Given the description of an element on the screen output the (x, y) to click on. 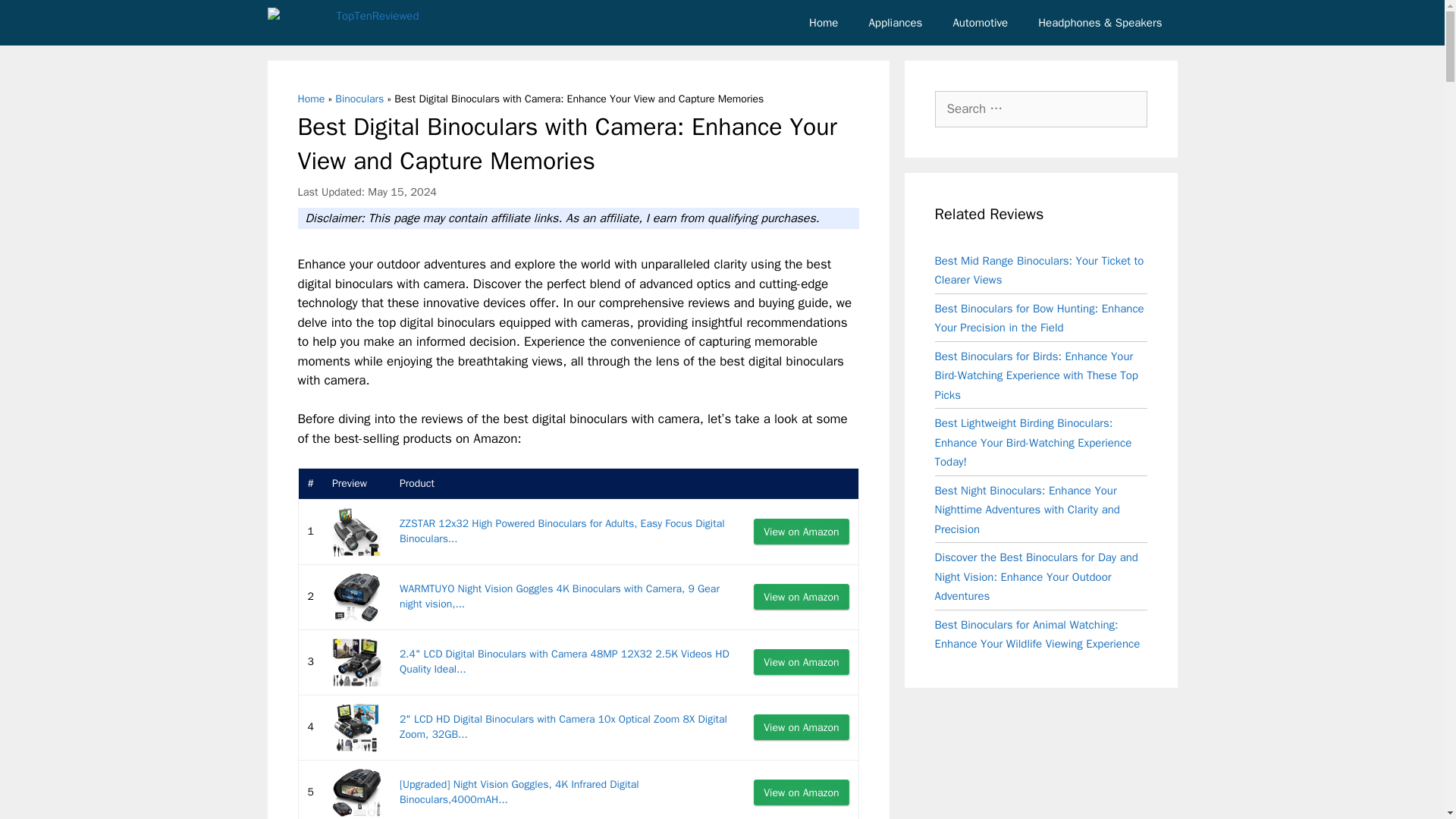
View on Amazon (801, 531)
TopTenReviewed (342, 22)
Home (310, 98)
View on Amazon (801, 661)
View on Amazon (801, 661)
View on Amazon (801, 727)
Binoculars (359, 98)
Appliances (895, 22)
